Given the description of an element on the screen output the (x, y) to click on. 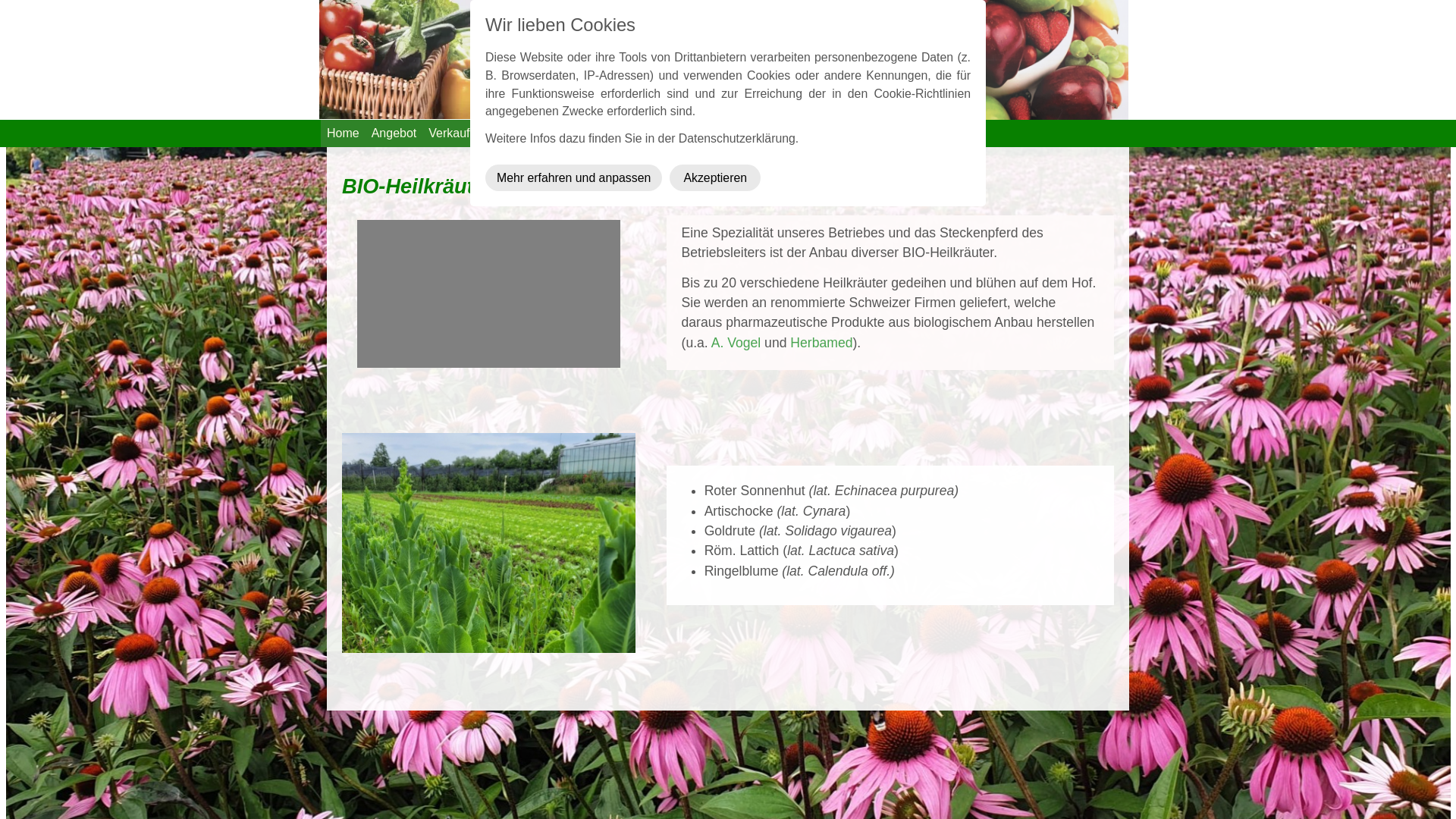
Kontakt Element type: text (634, 133)
Home Element type: text (342, 133)
A. Vogel Element type: text (736, 342)
Mehr erfahren und anpassen Element type: text (573, 177)
Herbamed Element type: text (821, 342)
Angebot Element type: text (394, 133)
Akzeptieren Element type: text (714, 177)
Verkauf Element type: text (448, 133)
